Given the description of an element on the screen output the (x, y) to click on. 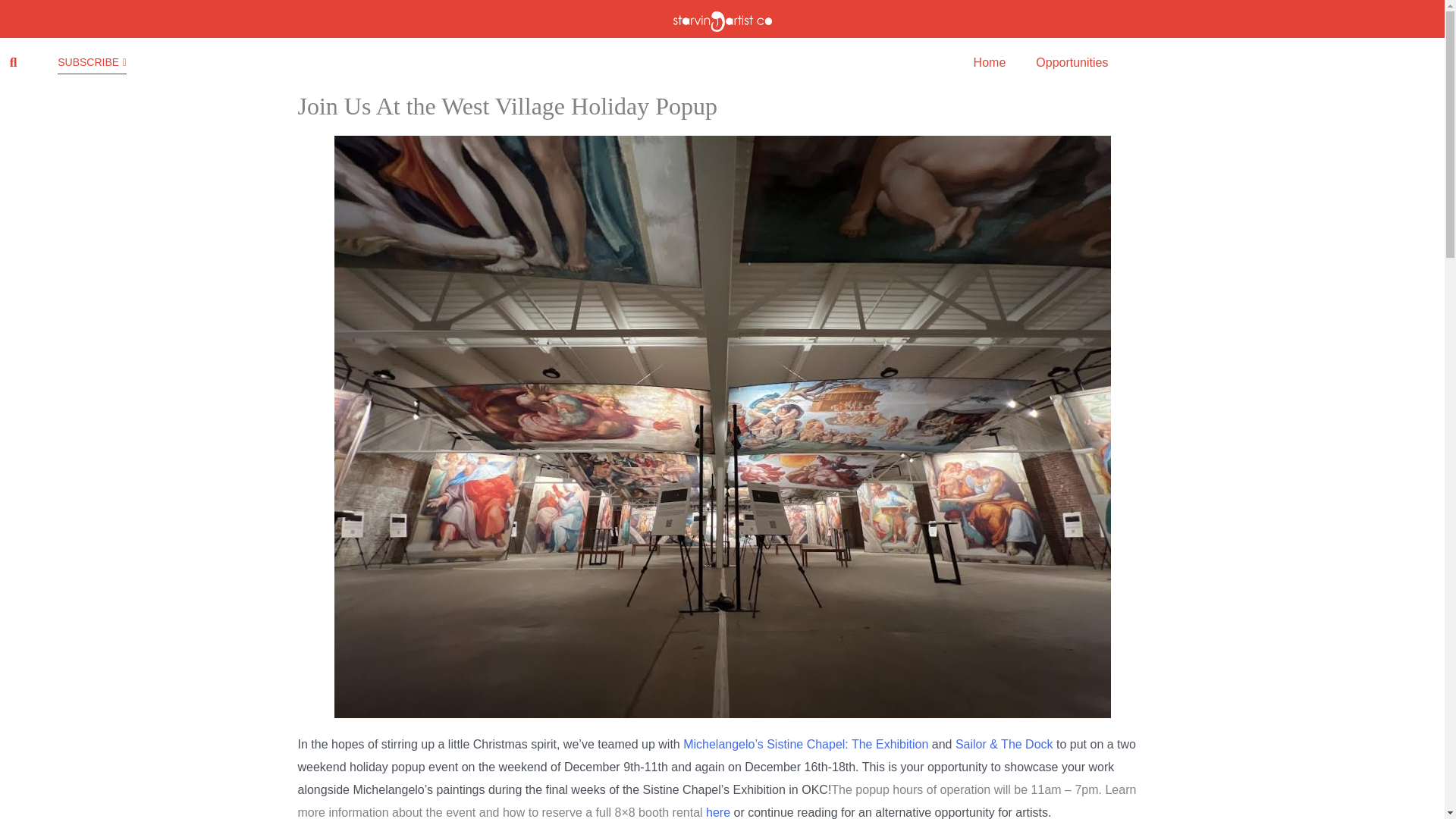
Opportunities (1071, 32)
here (718, 811)
SUBSCRIBE (92, 28)
Home (990, 30)
